Given the description of an element on the screen output the (x, y) to click on. 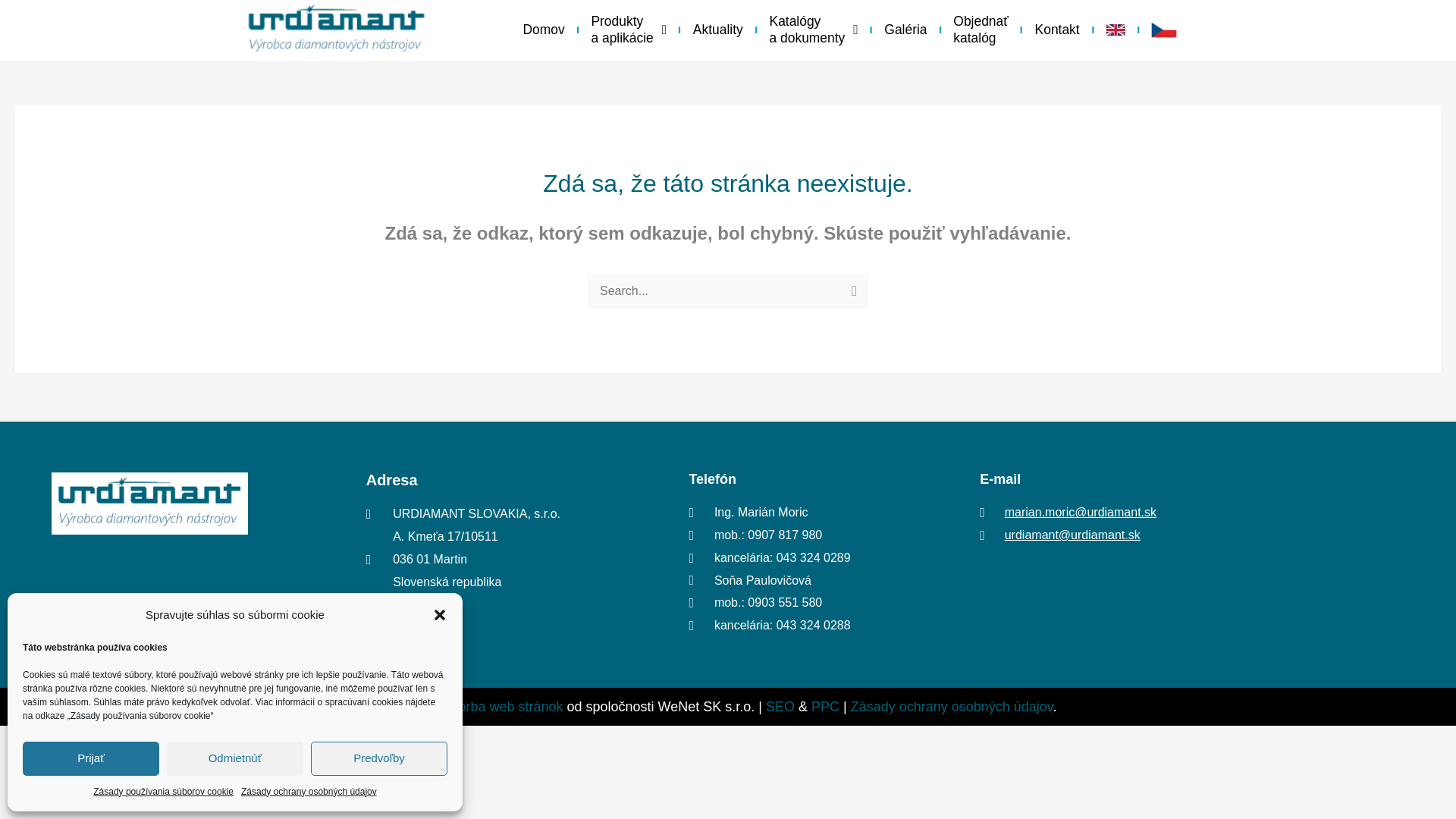
Kontakt (1054, 27)
Domov (542, 27)
Aktuality (714, 27)
